Given the description of an element on the screen output the (x, y) to click on. 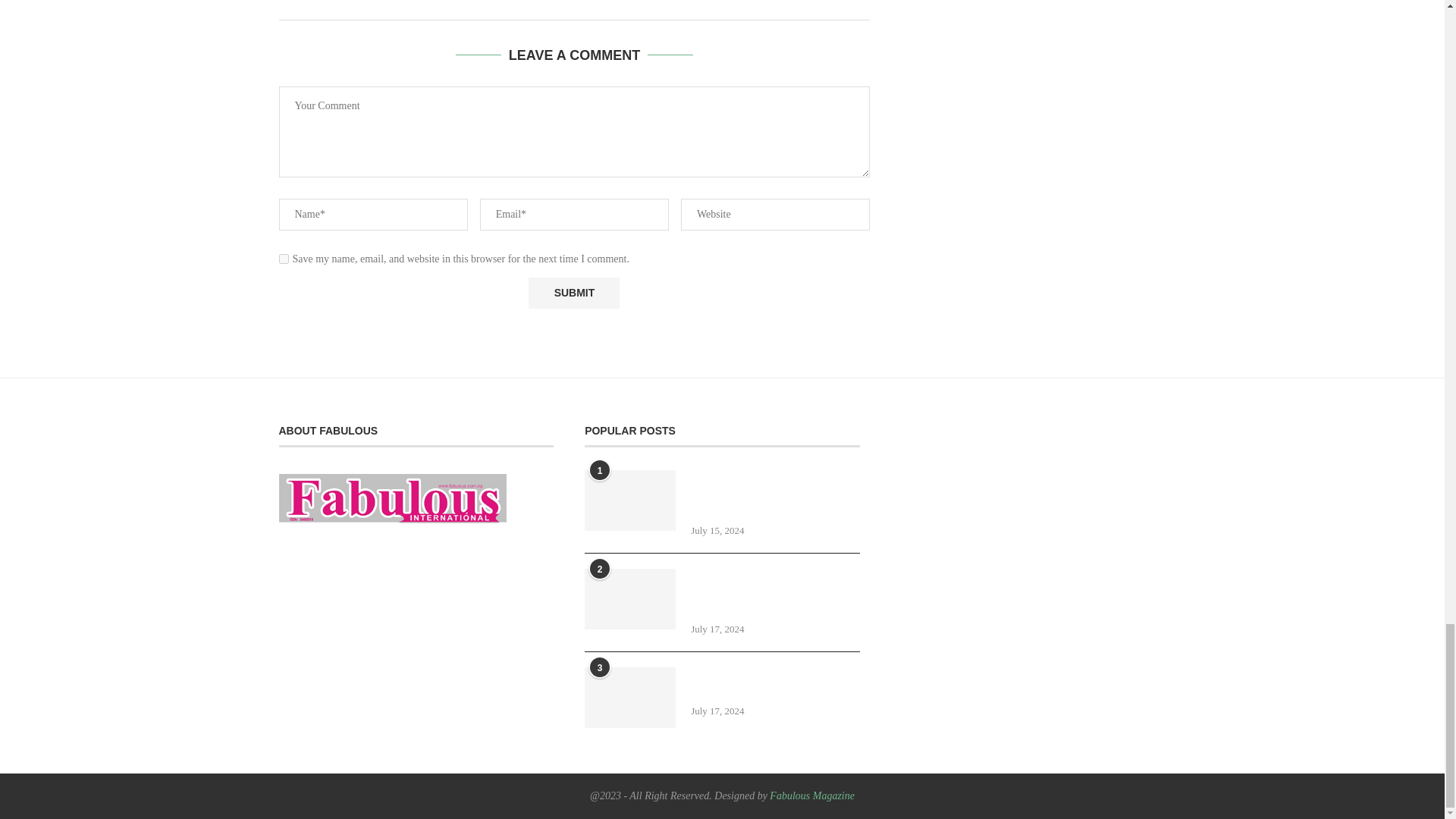
Submit (574, 292)
yes (283, 258)
